Given the description of an element on the screen output the (x, y) to click on. 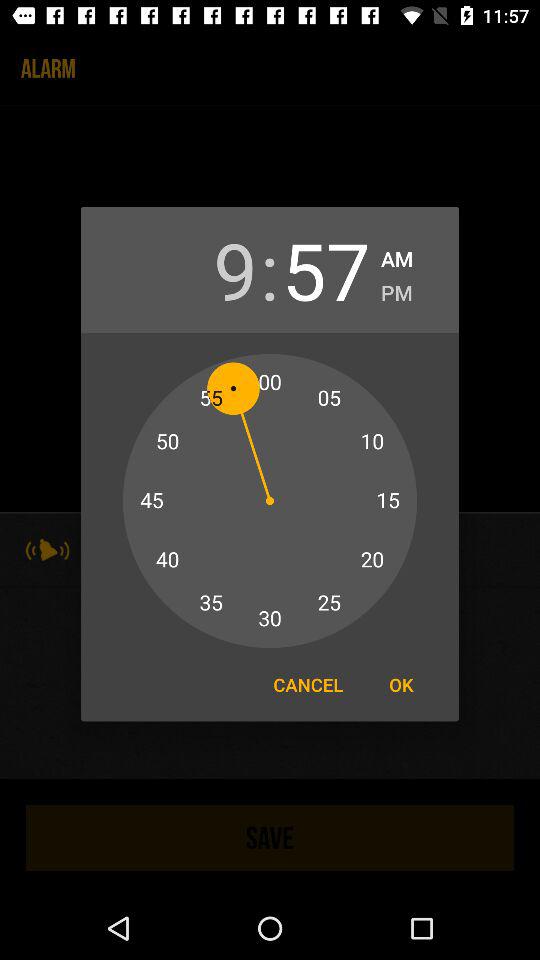
turn off ok icon (401, 684)
